Given the description of an element on the screen output the (x, y) to click on. 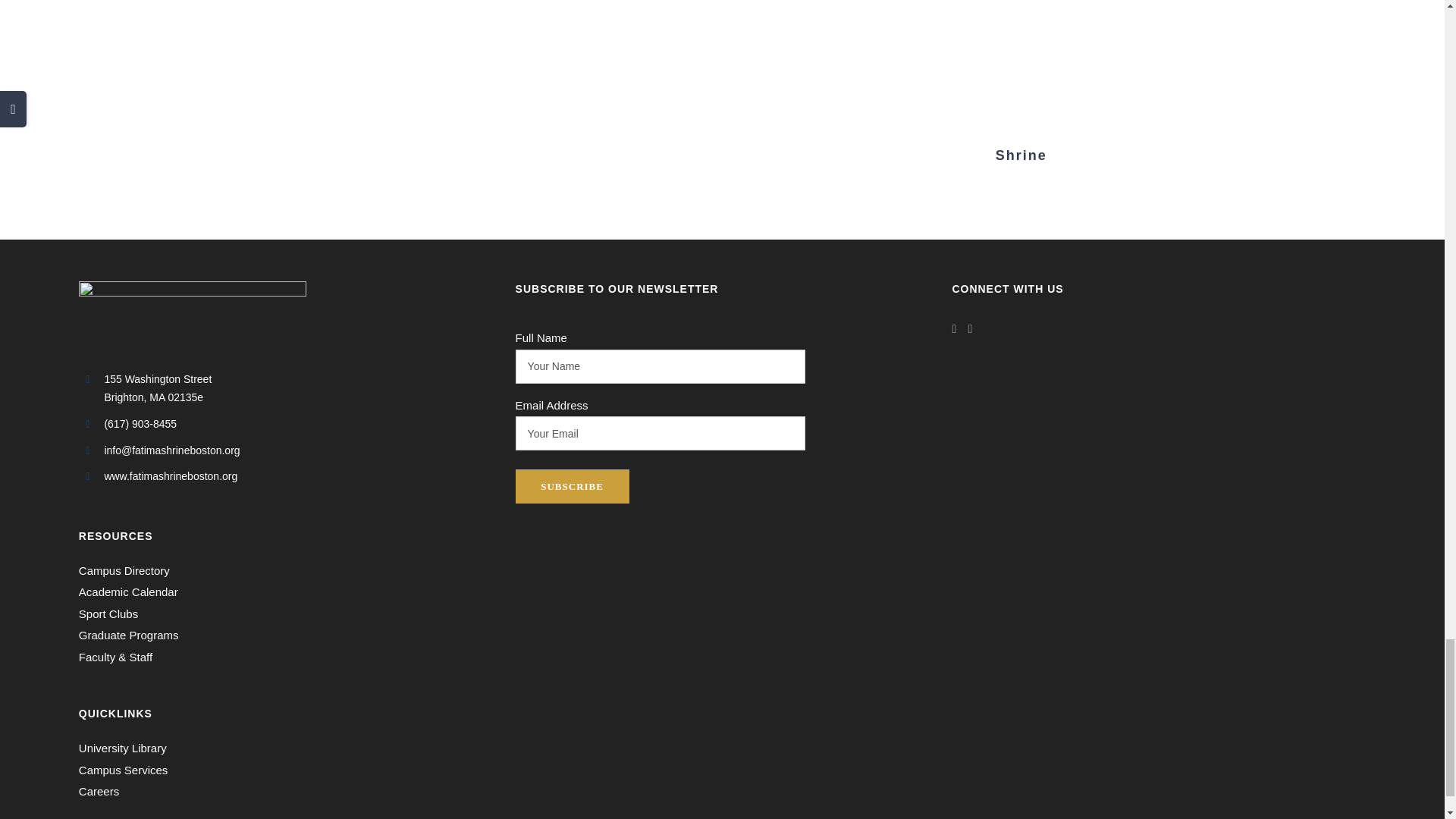
Subscribe (571, 486)
